Given the description of an element on the screen output the (x, y) to click on. 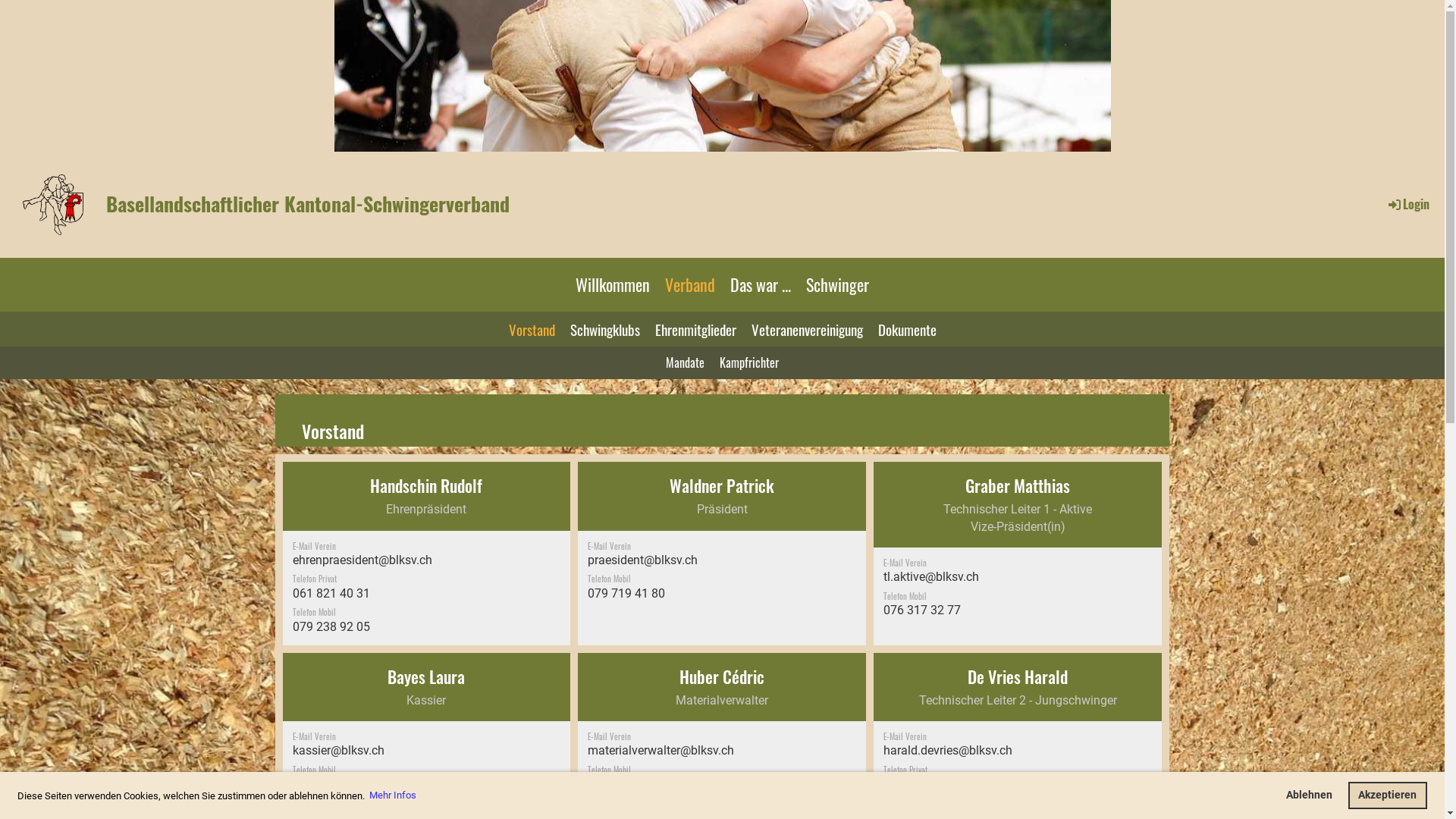
Mehr Infos Element type: text (392, 795)
harald.devries@blksv.ch Element type: text (947, 750)
Dokumente Element type: text (907, 329)
Ablehnen Element type: text (1308, 795)
Das war ... Element type: text (760, 284)
Schwinger Element type: text (837, 284)
praesident@blksv.ch Element type: text (642, 559)
Verband Element type: text (689, 284)
Basellandschaftlicher Kantonal-Schwingerverband Element type: text (307, 203)
kassier@blksv.ch Element type: text (338, 750)
ehrenpraesident@blksv.ch Element type: text (362, 559)
Akzeptieren Element type: text (1387, 795)
Kampfrichter Element type: text (749, 362)
tl.aktive@blksv.ch Element type: text (931, 576)
Mandate Element type: text (685, 362)
materialverwalter@blksv.ch Element type: text (660, 750)
Ehrenmitglieder Element type: text (695, 329)
Login Element type: text (1407, 203)
Veteranenvereinigung Element type: text (806, 329)
Willkommen Element type: text (612, 284)
Vorstand Element type: text (530, 329)
Schwingklubs Element type: text (604, 329)
